Given the description of an element on the screen output the (x, y) to click on. 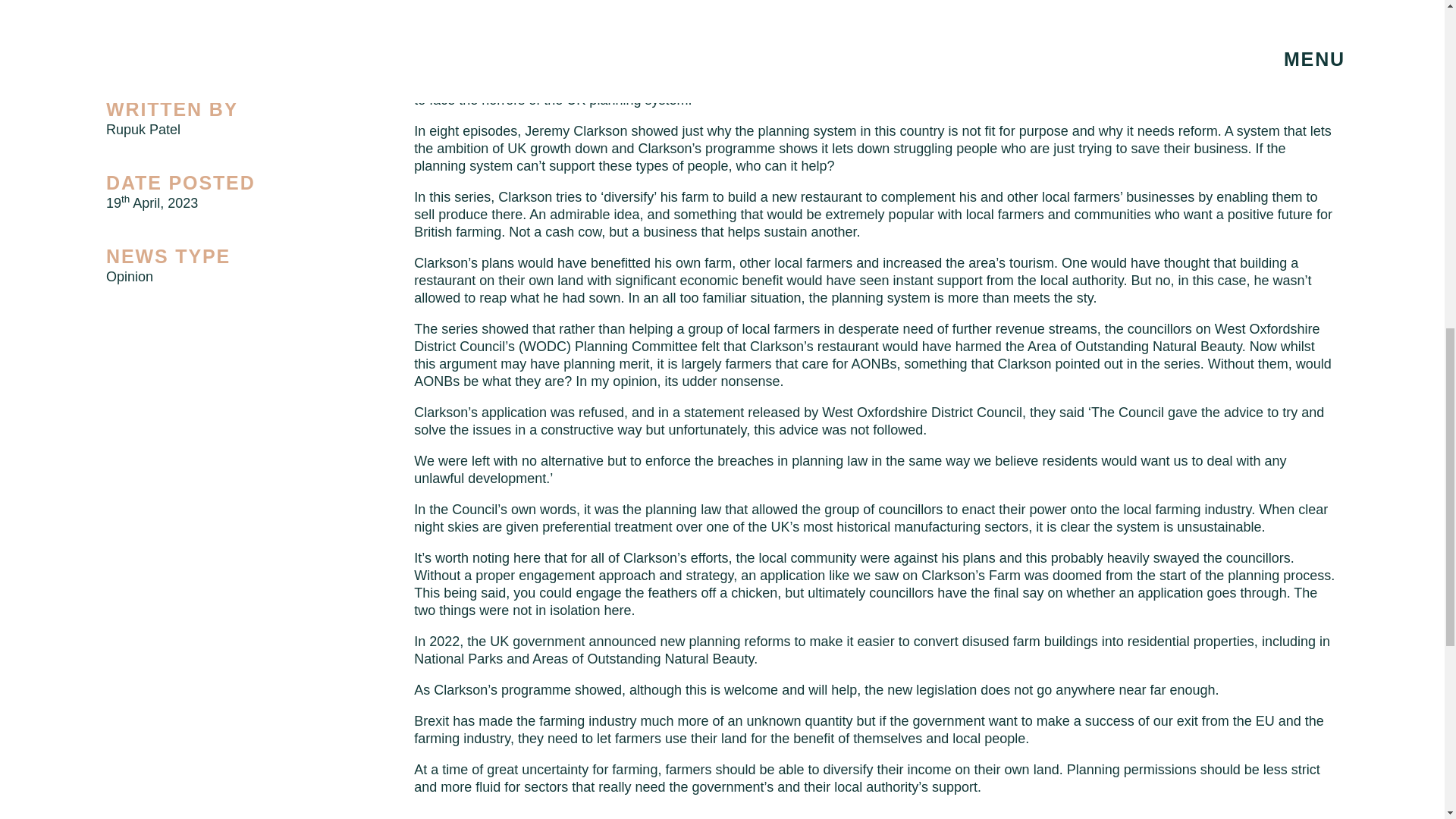
HOME (727, 111)
SERVICES (727, 274)
PROJECTS (727, 355)
NEWS STREAM (727, 437)
CONTACT US (727, 600)
ABOUT US (727, 192)
JOIN US (727, 518)
